Given the description of an element on the screen output the (x, y) to click on. 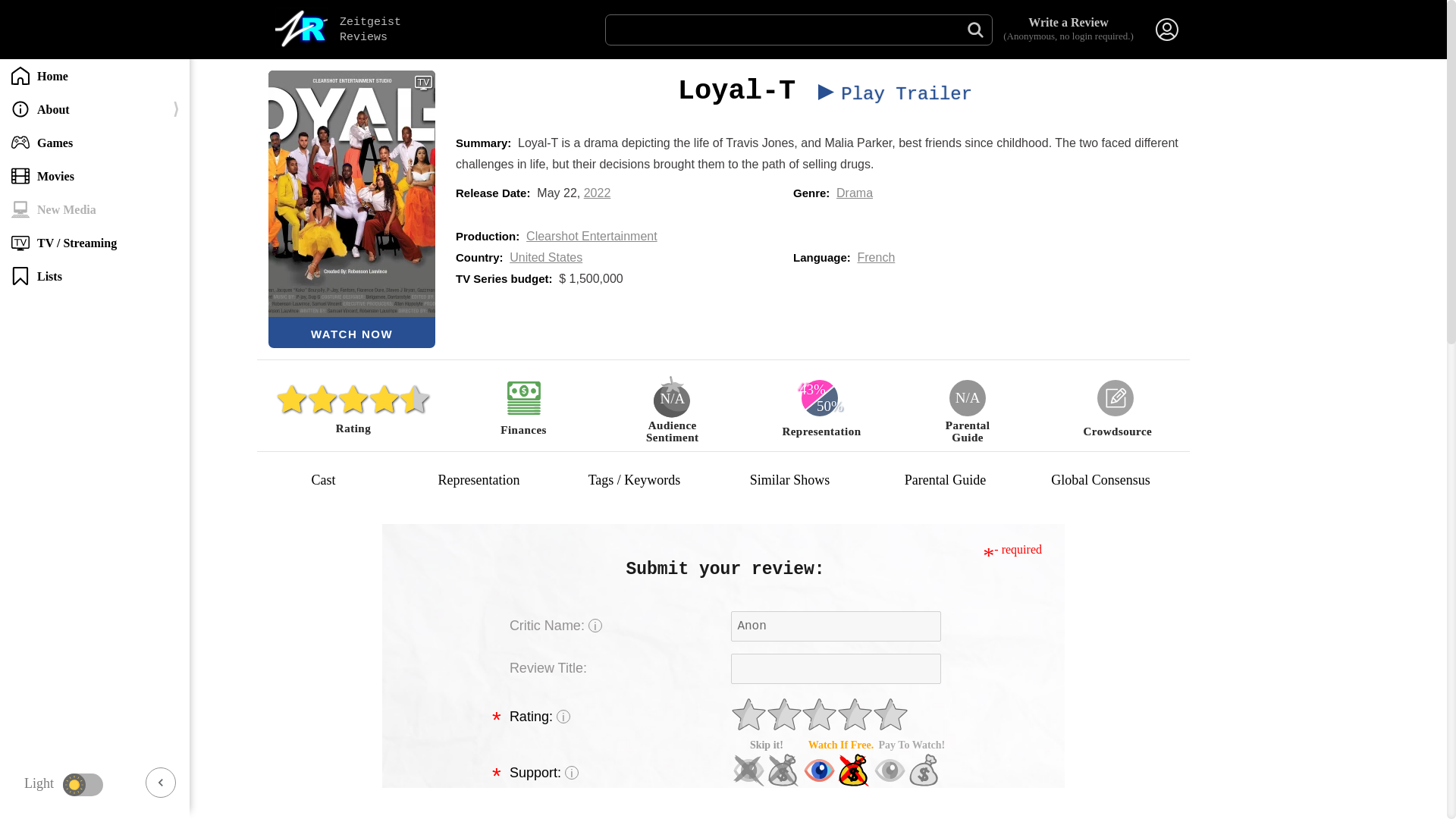
WATCH NOW (351, 332)
Search (975, 29)
About (94, 109)
Clearshot Entertainment (591, 236)
Home (94, 75)
2022 (597, 192)
Play Trailer (887, 94)
French (876, 256)
United States (545, 256)
Lists (94, 275)
Movies (94, 175)
New Media (94, 209)
Color theme (82, 784)
TV Show (423, 81)
